Given the description of an element on the screen output the (x, y) to click on. 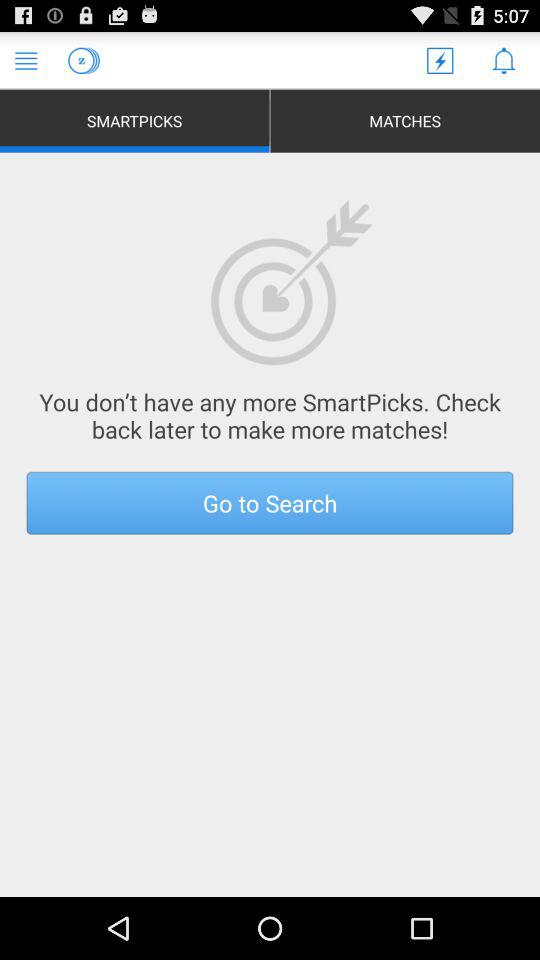
go to menu (26, 60)
